Given the description of an element on the screen output the (x, y) to click on. 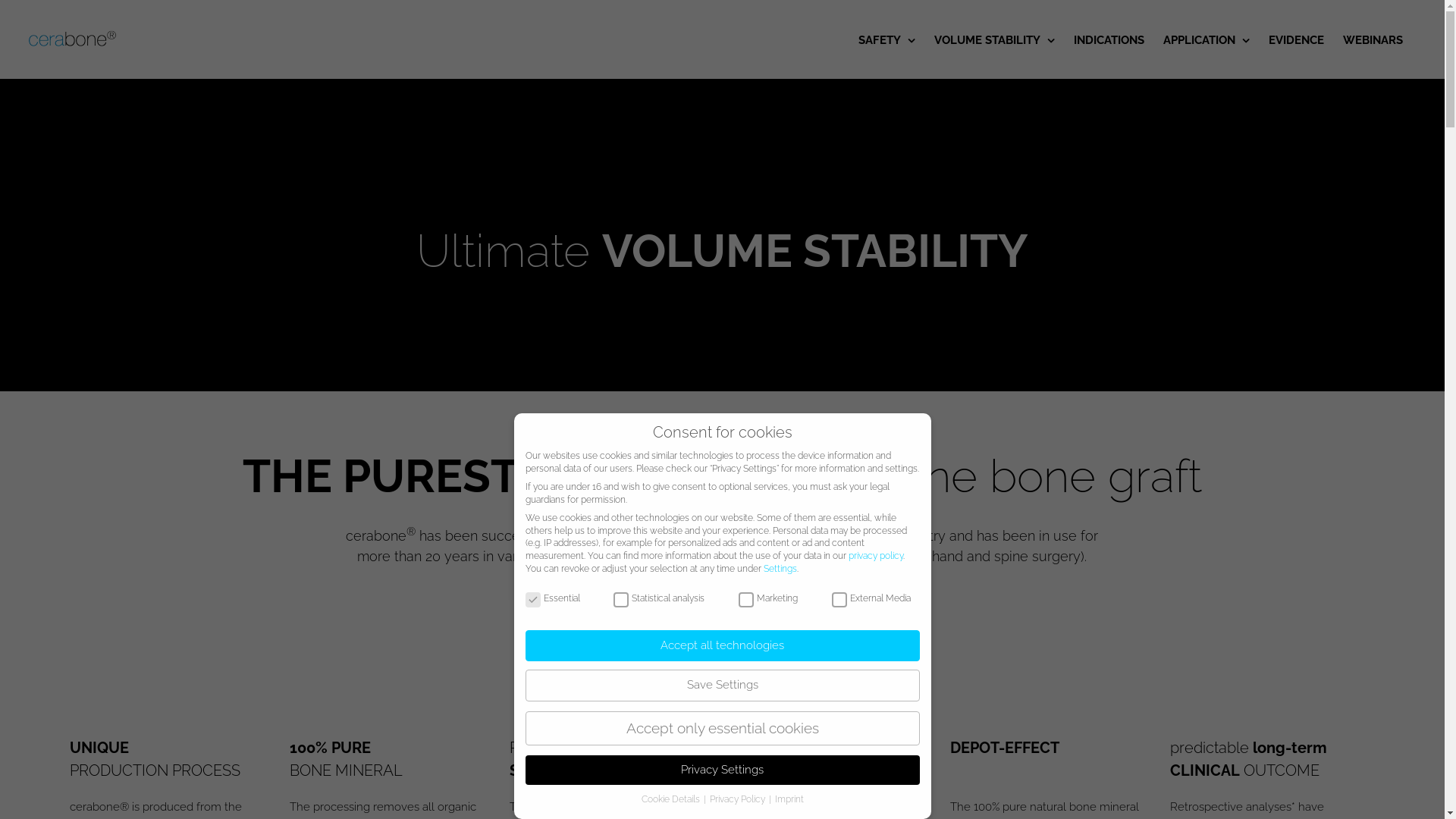
INDICATIONS Element type: text (1108, 39)
Save Settings Element type: text (721, 684)
Cookie Details Element type: text (671, 798)
SAFETY Element type: text (886, 39)
Imprint Element type: text (789, 798)
Privacy Policy Element type: text (738, 798)
privacy policy Element type: text (874, 555)
Settings Element type: text (779, 568)
Accept all technologies Element type: text (721, 645)
VOLUME STABILITY Element type: text (994, 39)
APPLICATION Element type: text (1206, 39)
WEBINARS Element type: text (1372, 39)
Accept only essential cookies Element type: text (721, 728)
EVIDENCE Element type: text (1296, 39)
Privacy Settings Element type: text (721, 769)
